Given the description of an element on the screen output the (x, y) to click on. 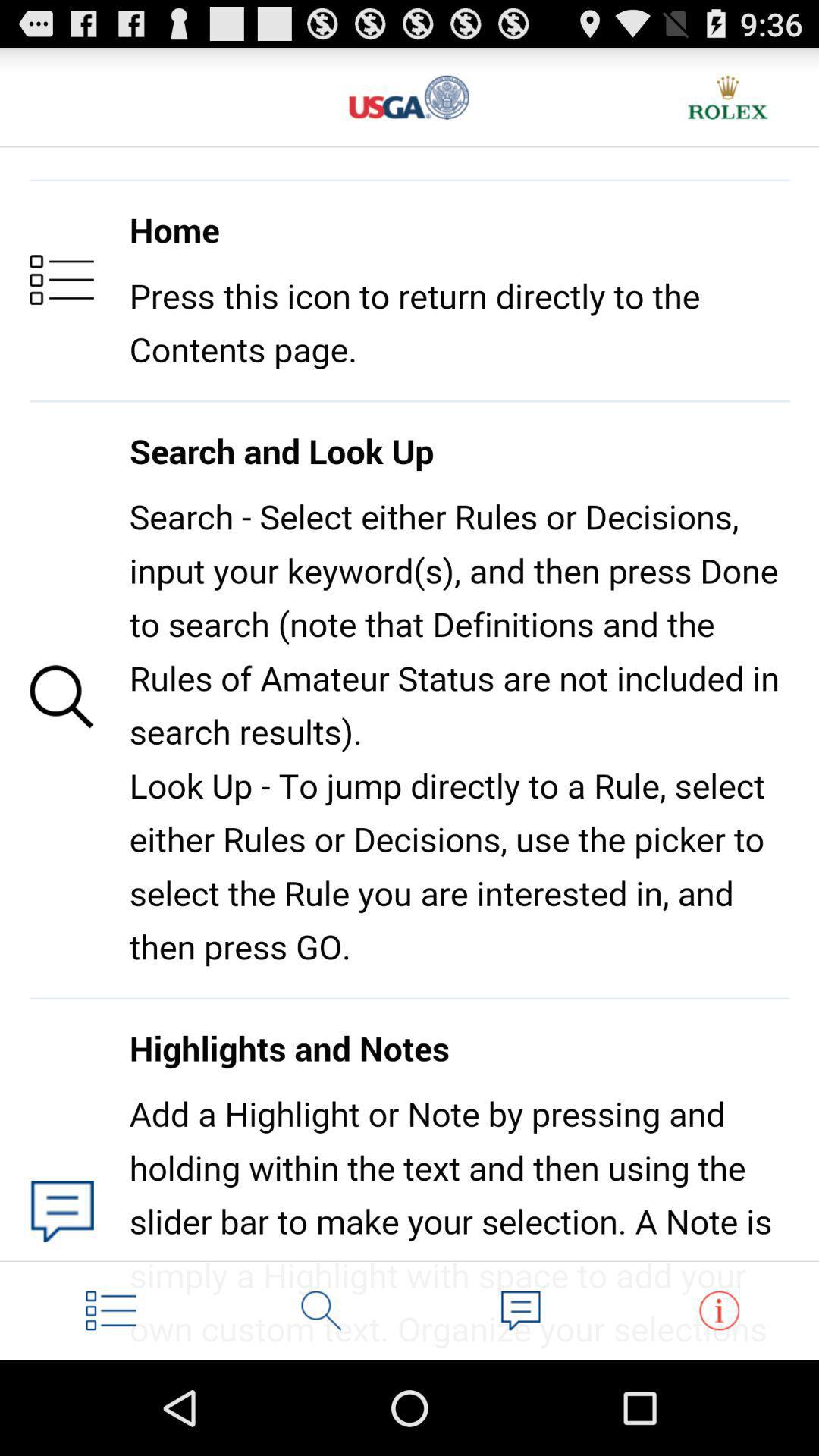
go to contents page (111, 1310)
